Given the description of an element on the screen output the (x, y) to click on. 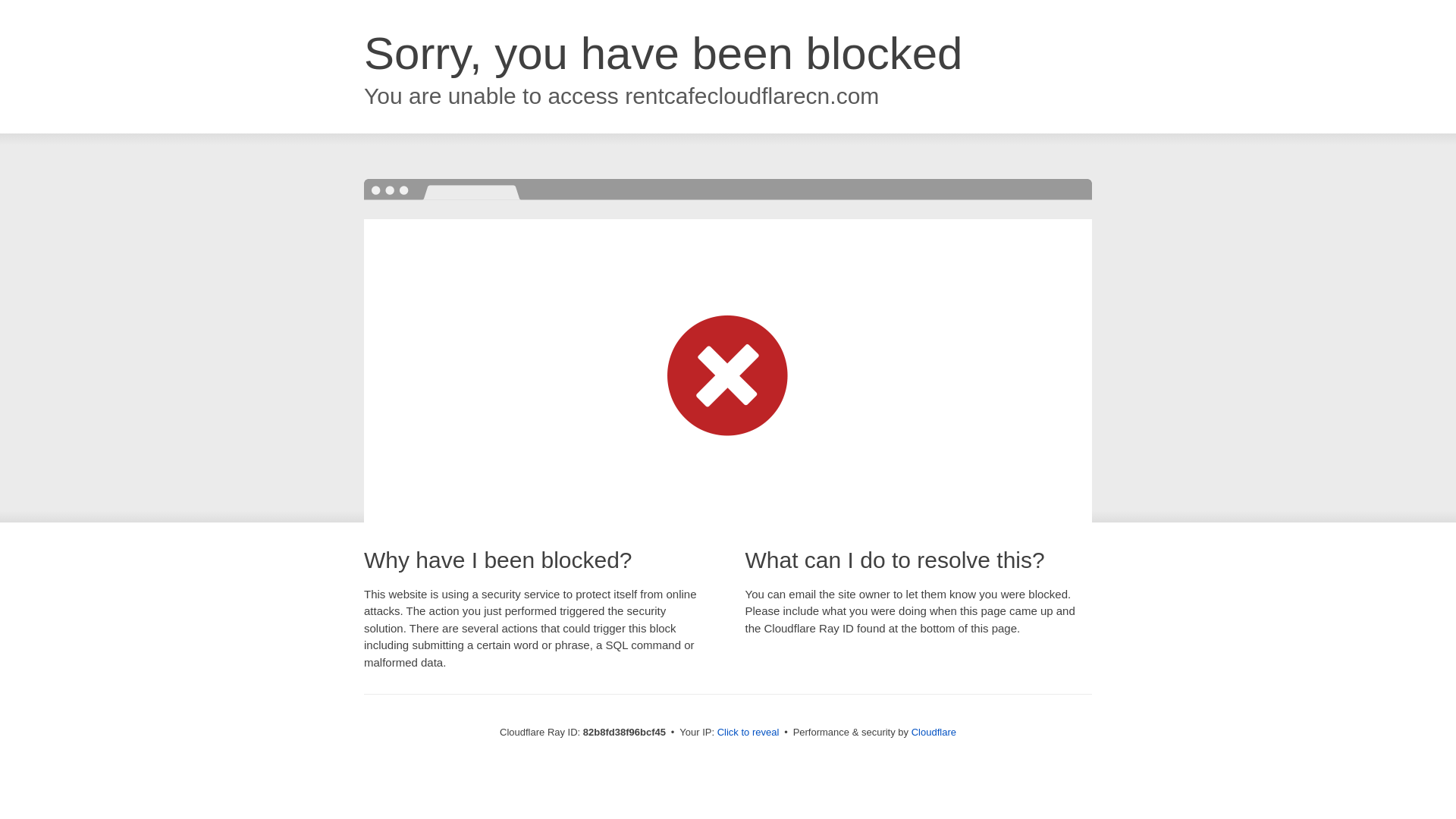
Click to reveal Element type: text (748, 732)
Cloudflare Element type: text (933, 731)
